Given the description of an element on the screen output the (x, y) to click on. 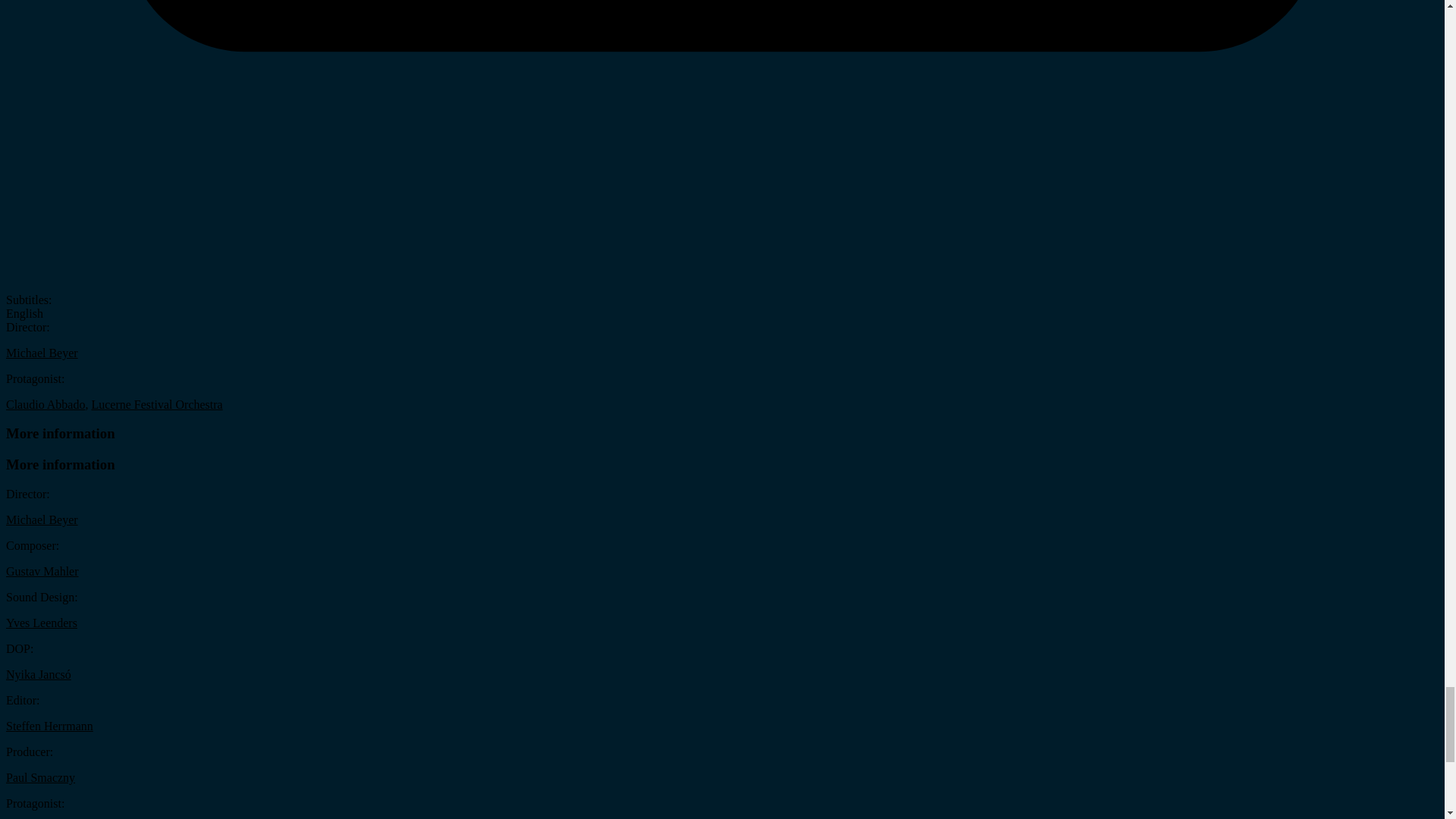
Steffen Herrmann (49, 725)
Michael Beyer (41, 519)
Gustav Mahler (41, 571)
Paul Smaczny (40, 777)
Claudio Abbado (44, 404)
Lucerne Festival Orchestra (156, 404)
Michael Beyer (41, 352)
Yves Leenders (41, 622)
